Given the description of an element on the screen output the (x, y) to click on. 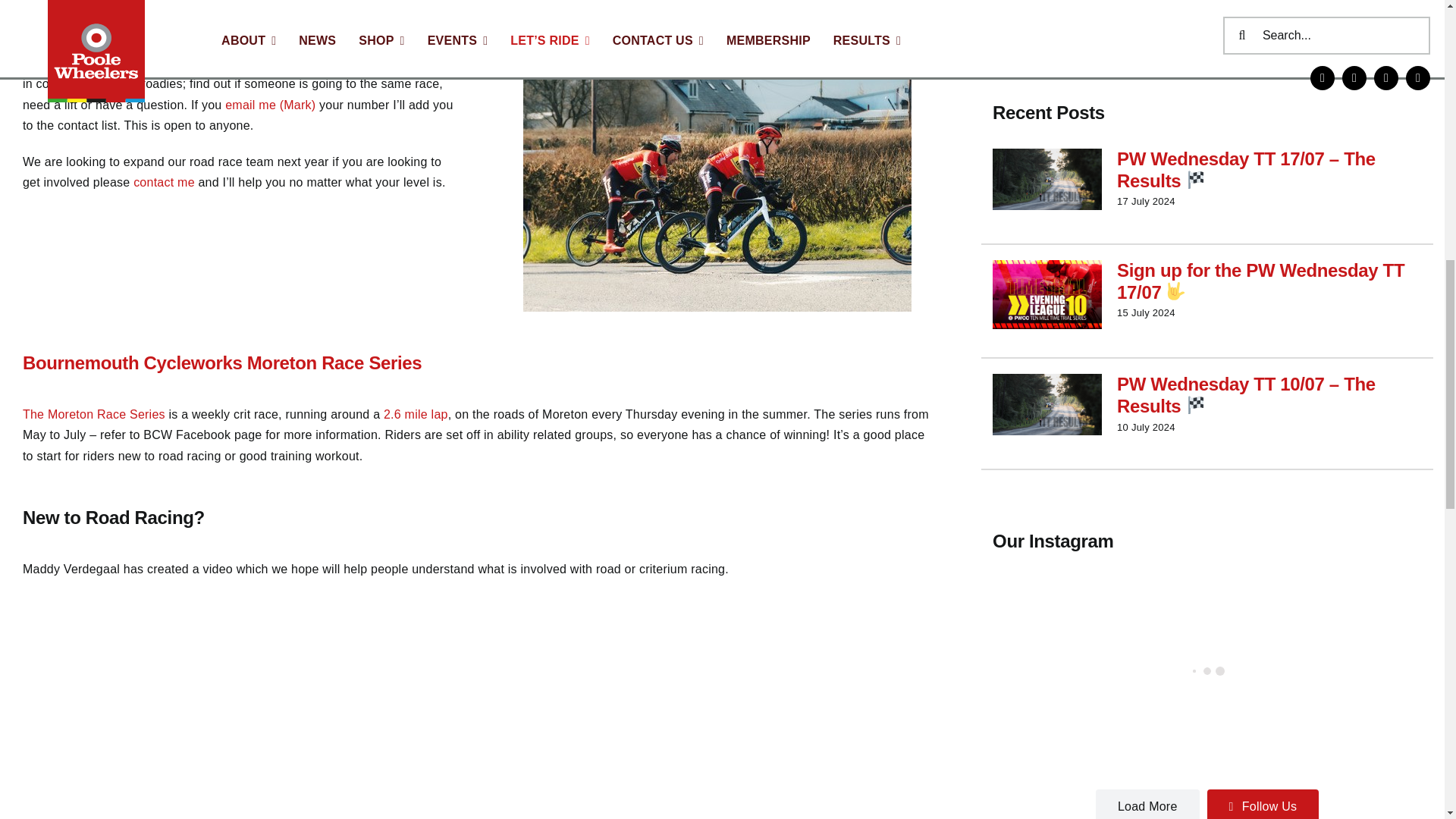
corner (716, 182)
